Given the description of an element on the screen output the (x, y) to click on. 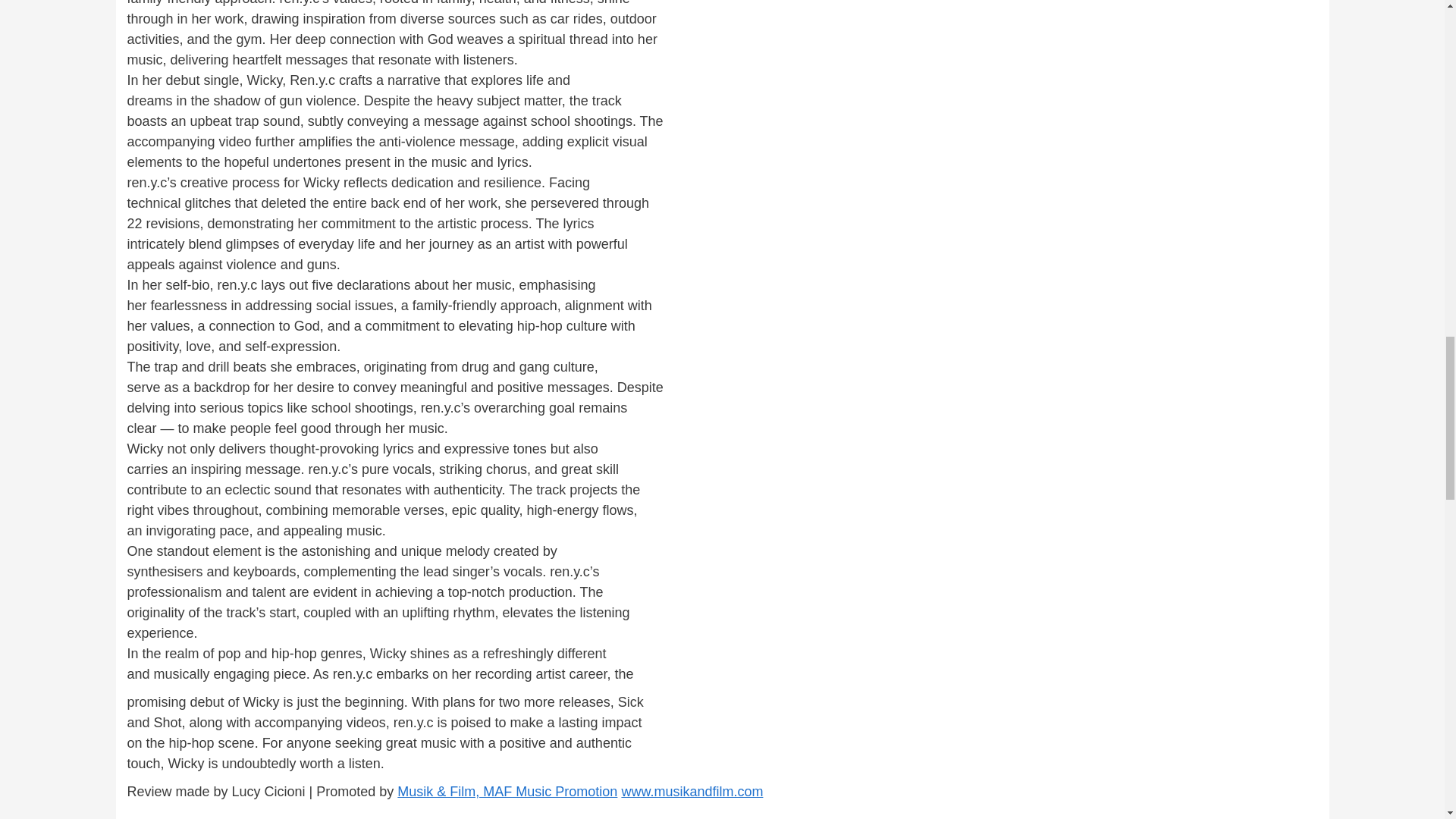
www.musikandfilm.com (691, 791)
